Given the description of an element on the screen output the (x, y) to click on. 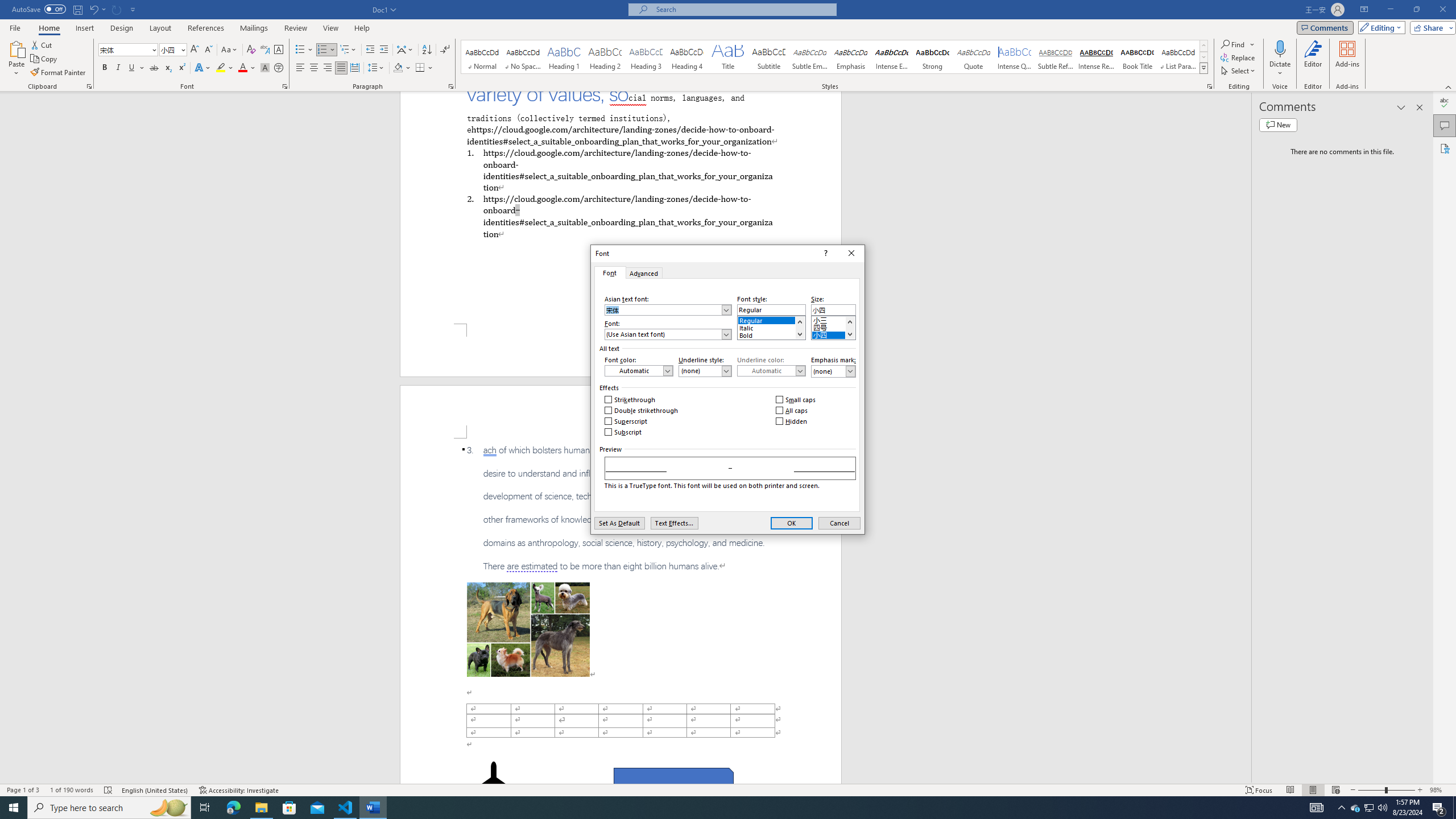
Strong (932, 56)
Morphological variation in six dogs (528, 629)
Show desktop (1454, 807)
Find (1237, 44)
Shrink Font (208, 49)
RichEdit Control (833, 309)
Set As Default (619, 522)
Superscript (180, 67)
Copy (45, 58)
Class: NetUIImage (1204, 68)
Quick Access Toolbar (74, 9)
2. (620, 216)
Superscript (626, 420)
Insert (83, 28)
